Given the description of an element on the screen output the (x, y) to click on. 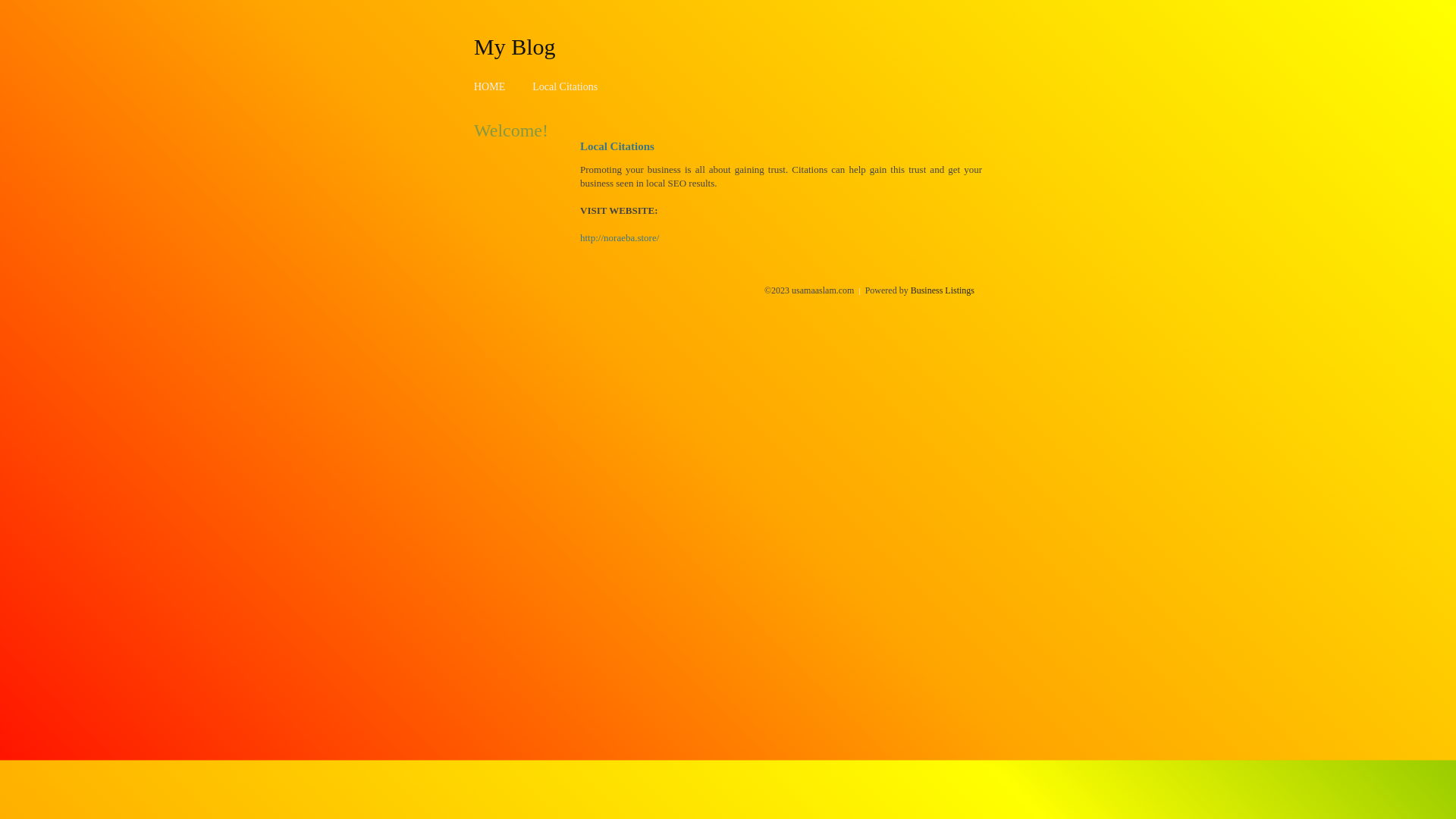
Local Citations Element type: text (564, 86)
Business Listings Element type: text (942, 290)
http://noraeba.store/ Element type: text (619, 237)
HOME Element type: text (489, 86)
My Blog Element type: text (514, 46)
